Given the description of an element on the screen output the (x, y) to click on. 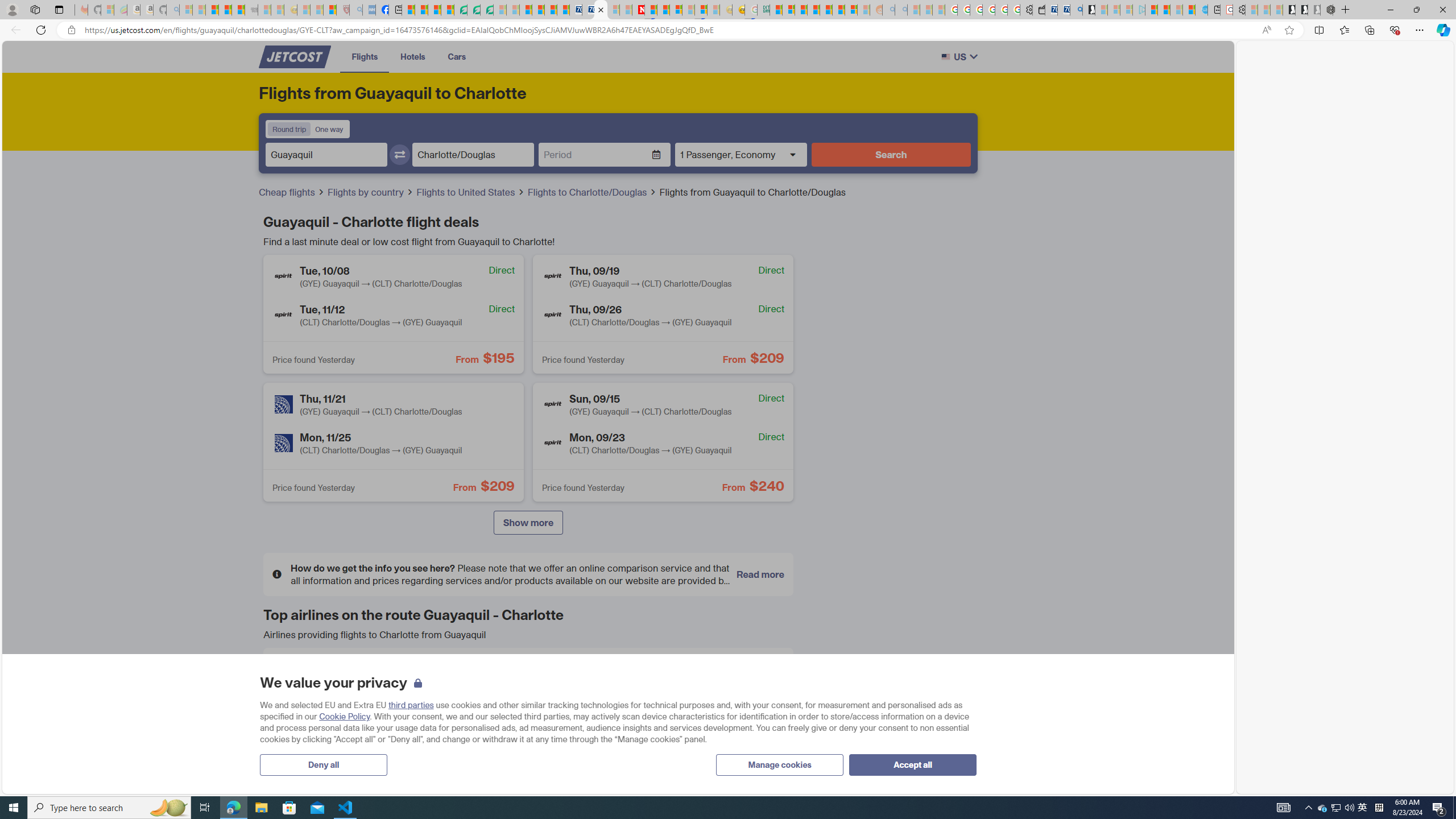
New Tab (1346, 9)
Spirit Airlines (635, 715)
DITOGAMES AG Imprint (763, 9)
View site information (70, 29)
DELTA DELTA (356, 716)
Settings and more (Alt+F) (1419, 29)
Show more (528, 522)
